Given the description of an element on the screen output the (x, y) to click on. 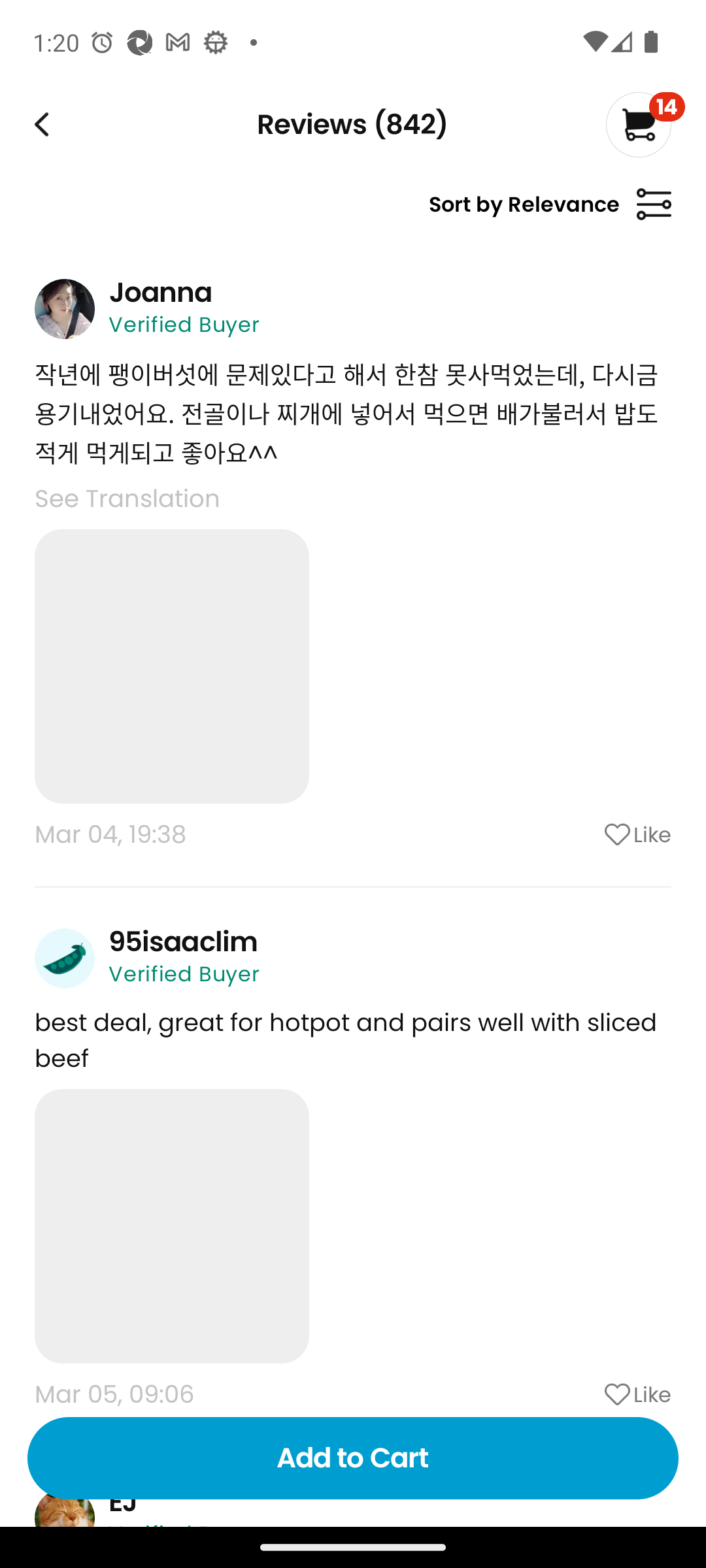
14 (644, 124)
Sort by Relevance (549, 212)
Joanna (159, 292)
Verified Buyer (183, 324)
See Translation (127, 498)
Like (585, 833)
95isaaclim (183, 941)
Verified Buyer (183, 973)
Like (585, 1394)
Add to Cart (352, 1458)
